Given the description of an element on the screen output the (x, y) to click on. 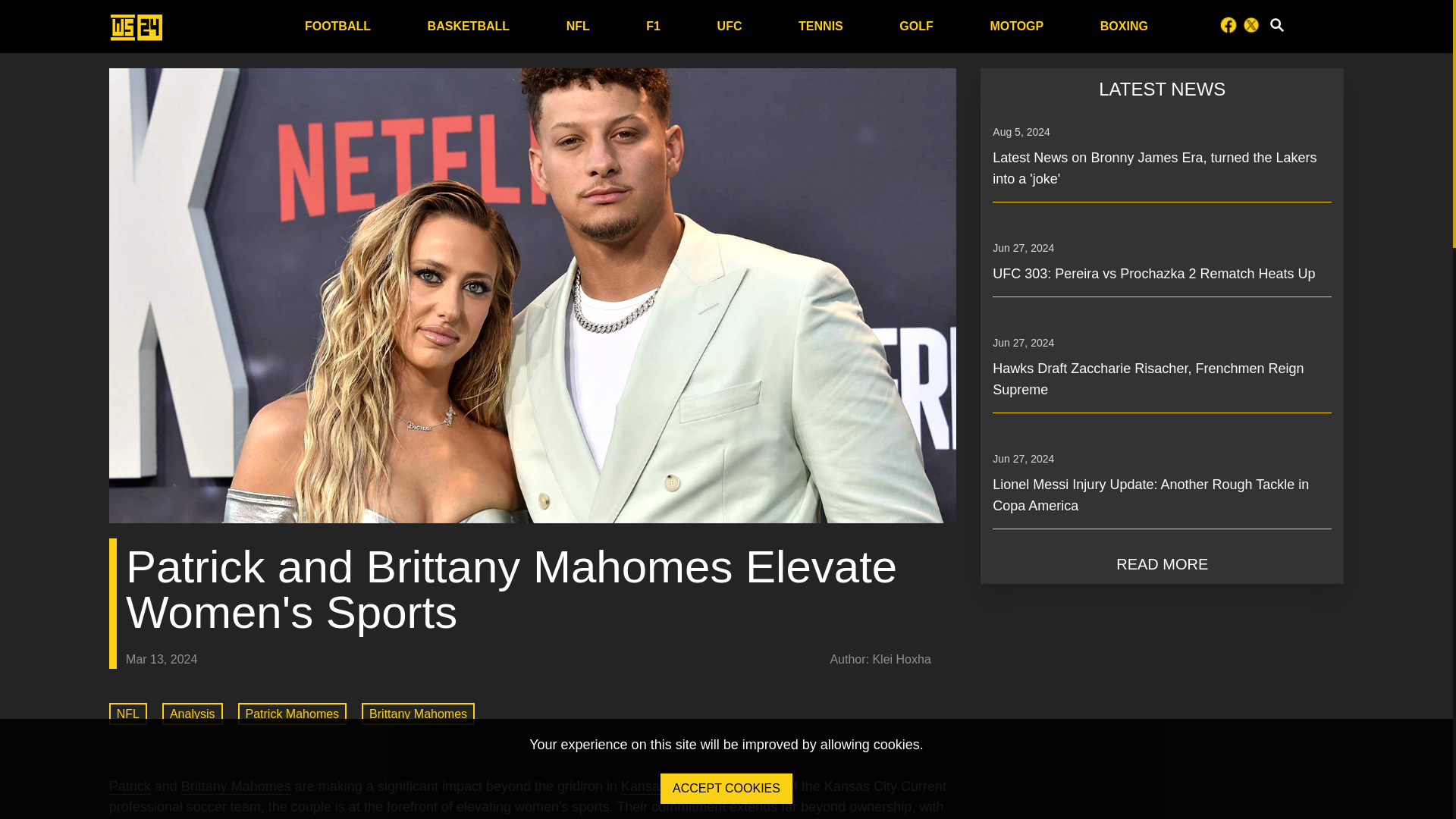
TENNIS (820, 26)
BASKETBALL (468, 26)
Brittany Mahomes (235, 786)
UFC (729, 26)
GOLF (532, 705)
NFL (916, 26)
Kansas City (128, 713)
Patrick Mahomes (657, 786)
BOXING (292, 713)
